Given the description of an element on the screen output the (x, y) to click on. 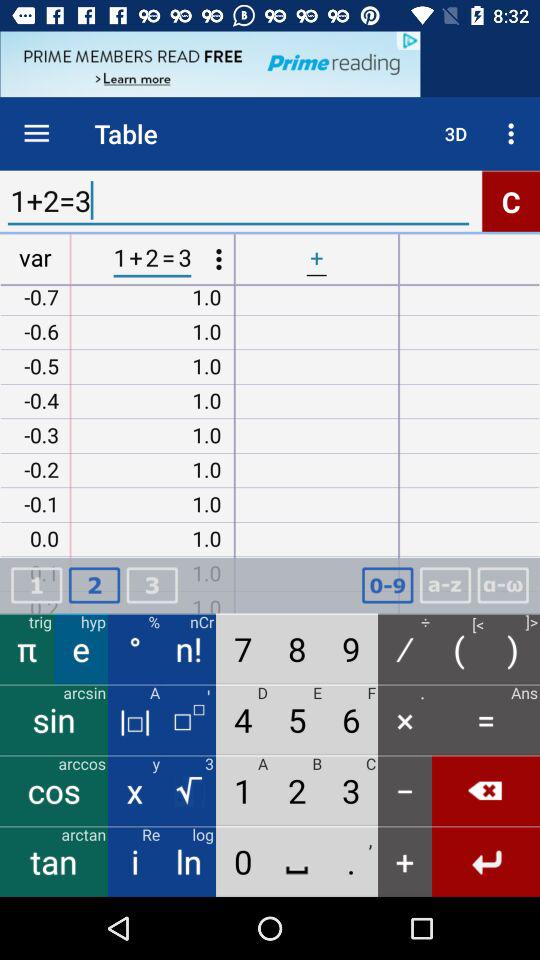
select 3 (152, 585)
